Given the description of an element on the screen output the (x, y) to click on. 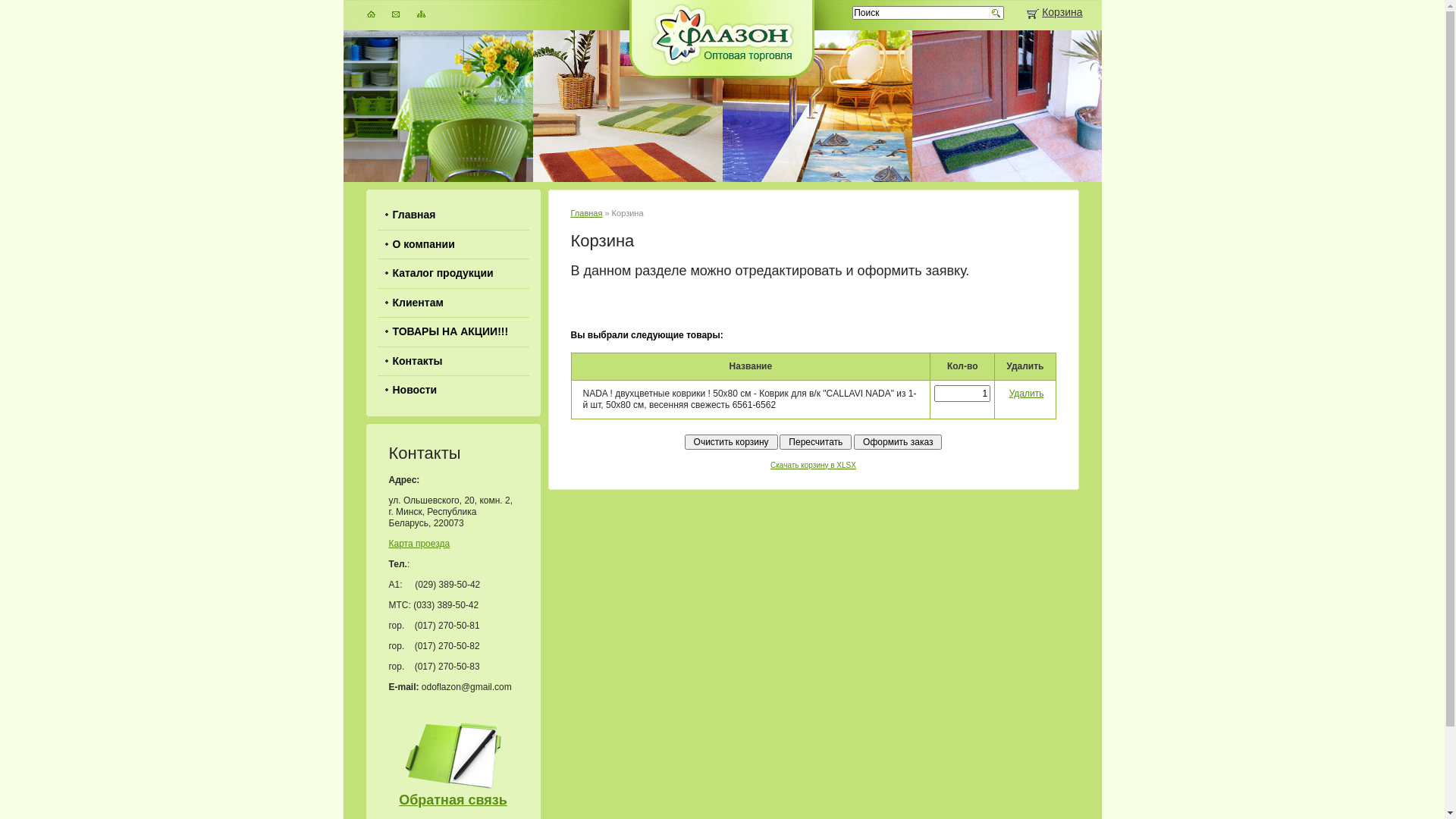
Flazon Element type: hover (722, 61)
